Given the description of an element on the screen output the (x, y) to click on. 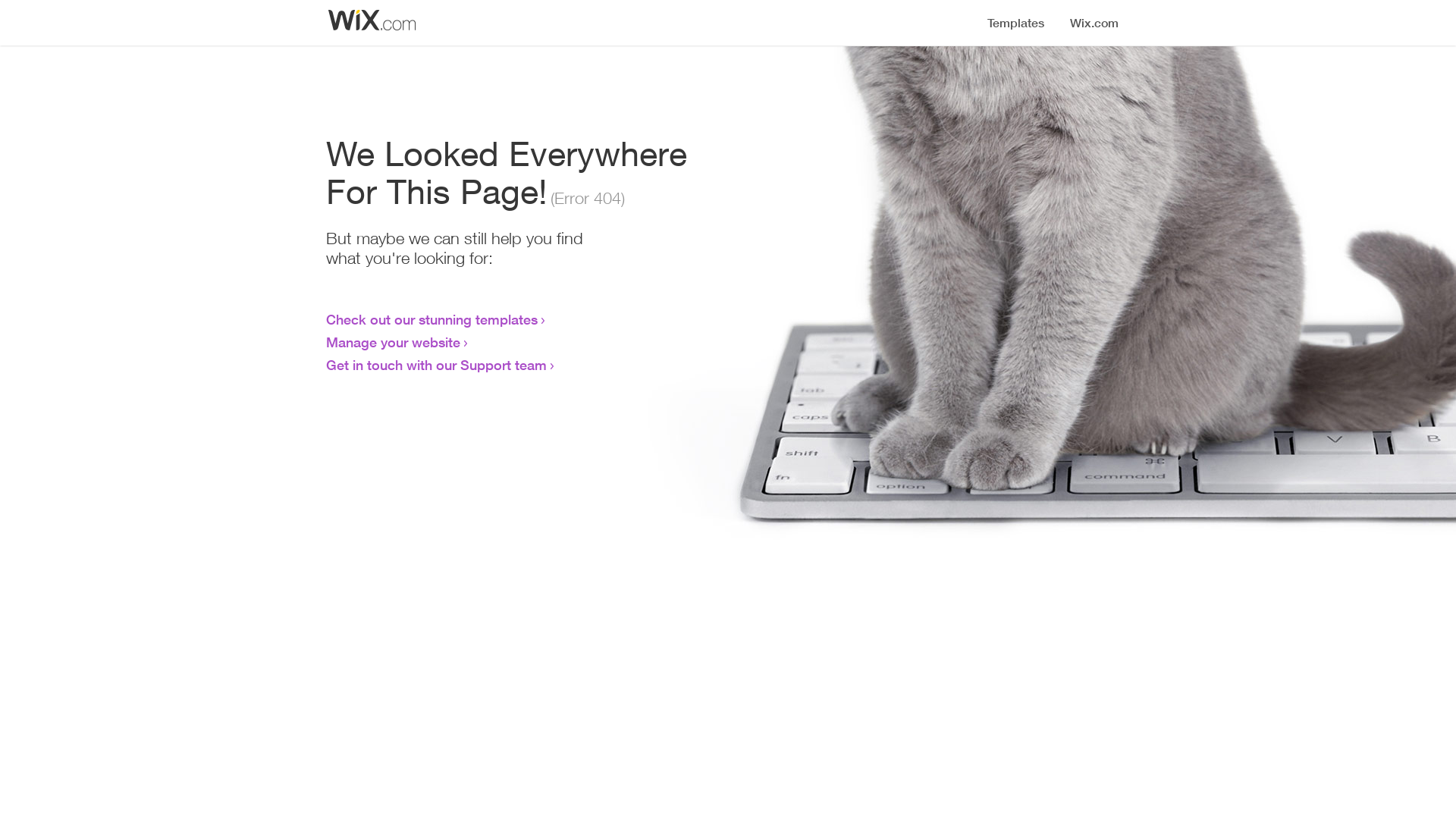
Check out our stunning templates Element type: text (431, 318)
Manage your website Element type: text (393, 341)
Get in touch with our Support team Element type: text (436, 364)
